Given the description of an element on the screen output the (x, y) to click on. 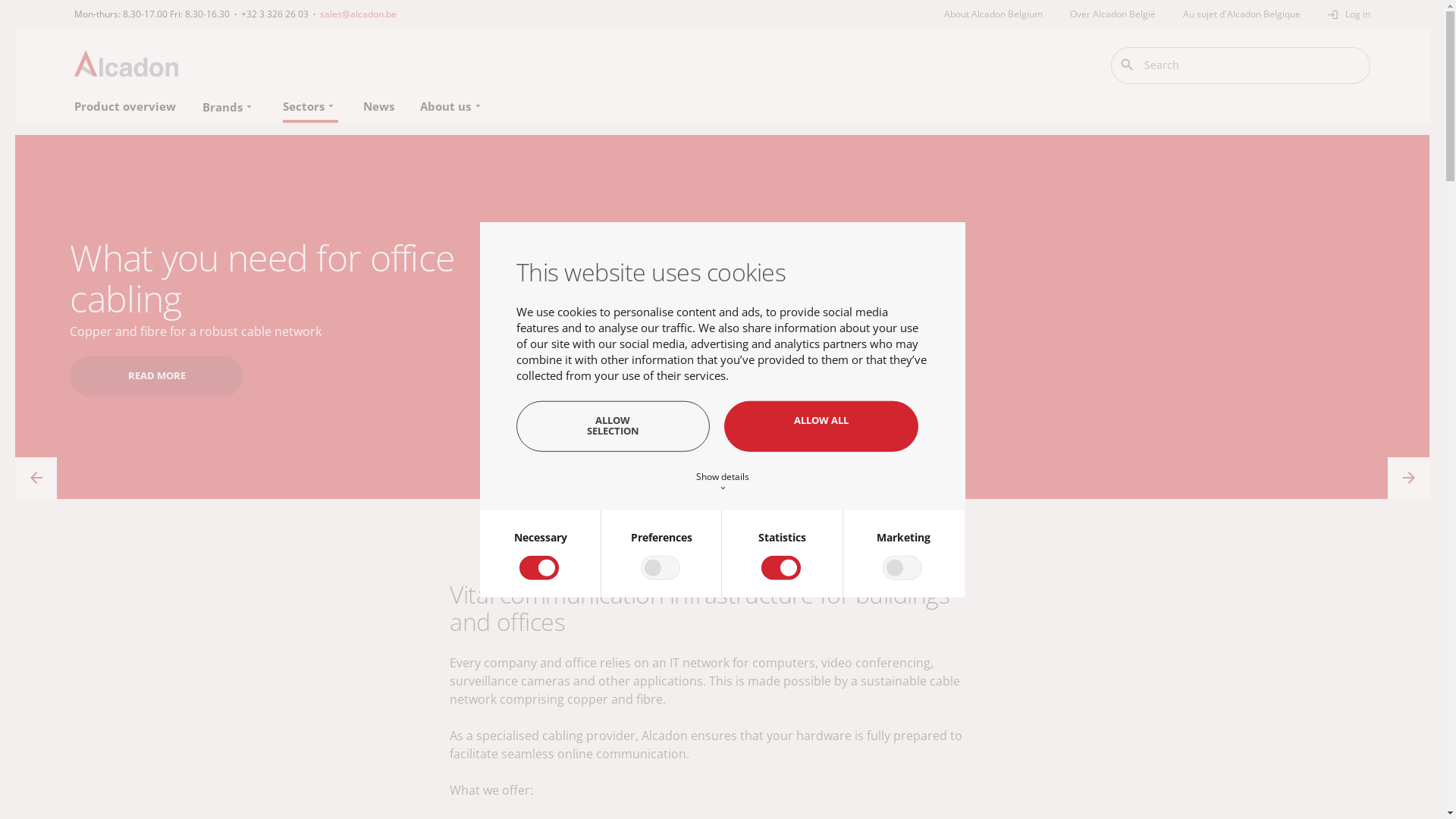
ALLOW ALL Element type: text (821, 425)
sales@alcadon.be Element type: text (358, 13)
Brands
arrow_drop_down Element type: text (228, 106)
Au sujet d'Alcadon Belgique Element type: text (1241, 14)
About Alcadon Belgium Element type: text (1000, 14)
Sectors
arrow_drop_down Element type: text (310, 106)
MEET THE BRANDS Element type: text (172, 355)
Show details
keyboard_arrow_down Element type: text (722, 481)
About us
arrow_drop_down Element type: text (452, 106)
ALLOW SELECTION Element type: text (612, 425)
Product overview Element type: text (125, 106)
login
Log in Element type: text (1348, 14)
News Element type: text (379, 106)
